Given the description of an element on the screen output the (x, y) to click on. 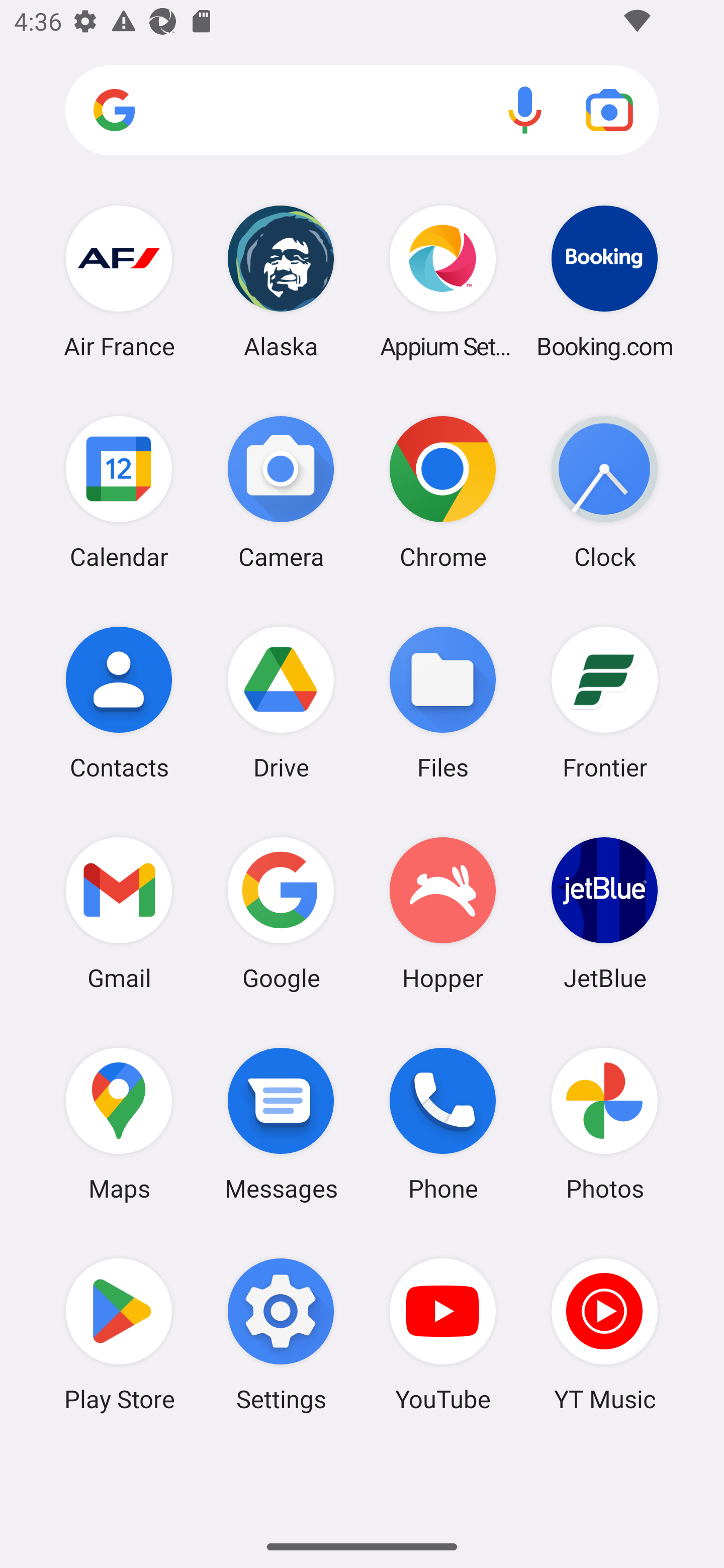
Voice search (524, 109)
Google Lens (608, 109)
Air France (118, 281)
Alaska (280, 281)
Appium Settings (443, 281)
Booking.com (604, 281)
Calendar (118, 492)
Camera (280, 492)
Chrome (443, 492)
Clock (604, 492)
Contacts (118, 702)
Drive (280, 702)
Files (443, 702)
Frontier (604, 702)
Gmail (118, 913)
Google (280, 913)
Hopper (443, 913)
JetBlue (604, 913)
Maps (118, 1124)
Messages (280, 1124)
Phone (443, 1124)
Photos (604, 1124)
Play Store (118, 1334)
Settings (280, 1334)
YouTube (443, 1334)
YT Music (604, 1334)
